Given the description of an element on the screen output the (x, y) to click on. 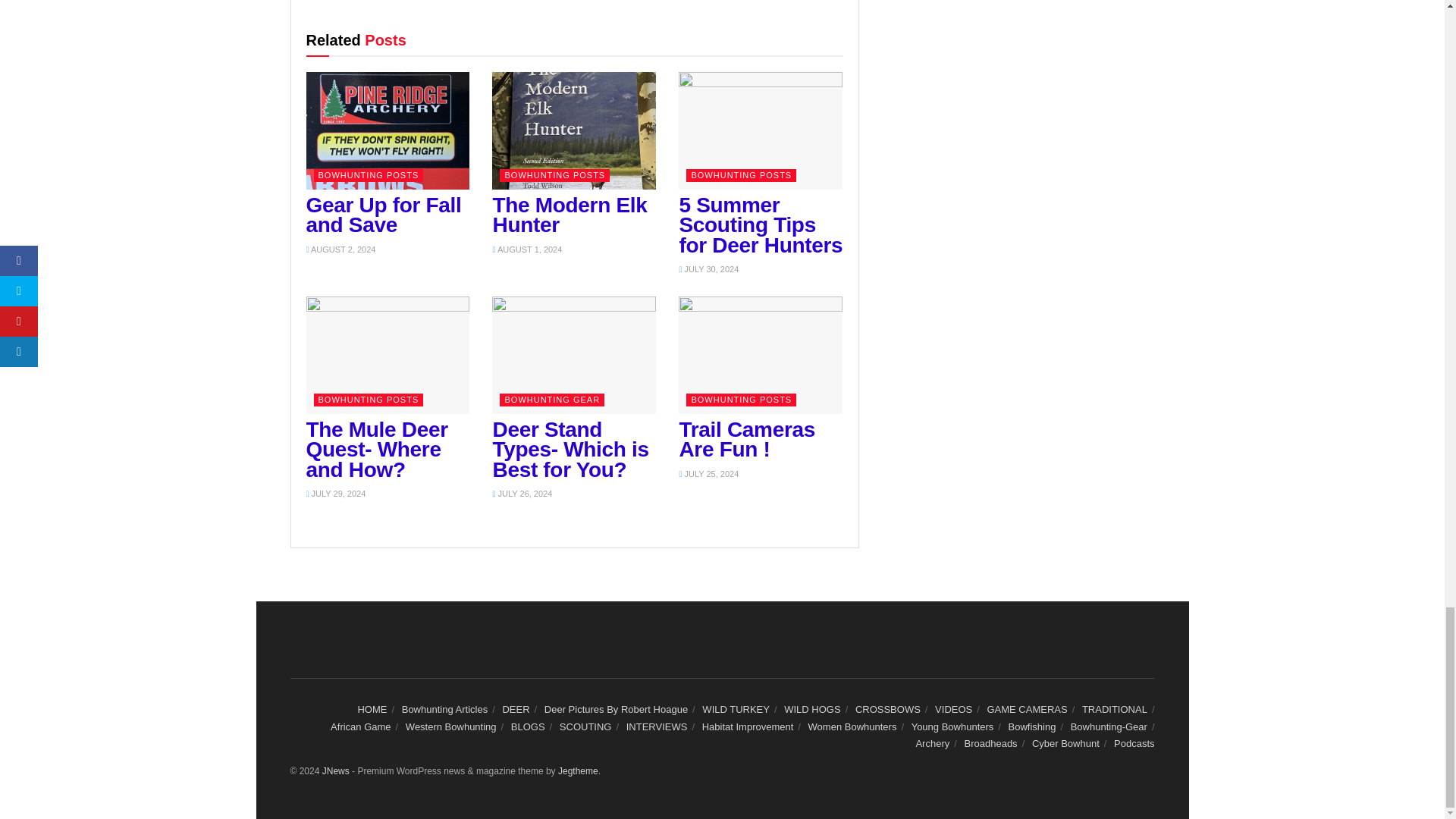
Jegtheme (577, 770)
